Given the description of an element on the screen output the (x, y) to click on. 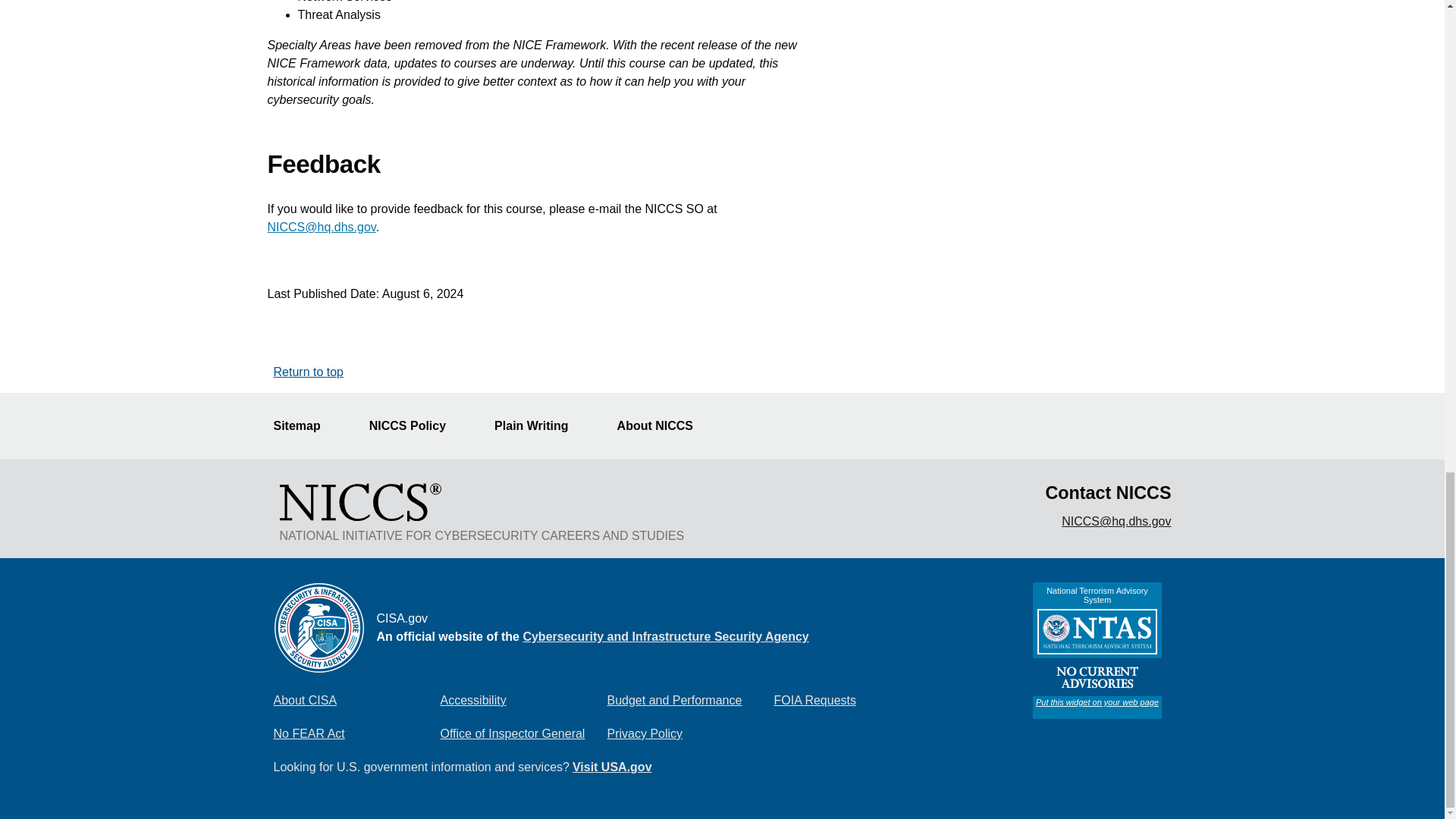
Budget and Performance (690, 700)
Accessibility (523, 700)
Sitemap (305, 426)
Cybersecurity and Infrastructure Security Agency (665, 635)
About NICCS (664, 426)
Visit USA.gov (612, 767)
National Terrorism Advisory System (1096, 650)
NICCS Policy (416, 426)
Visit the USA.gov website (612, 767)
Sitemap (305, 426)
